Given the description of an element on the screen output the (x, y) to click on. 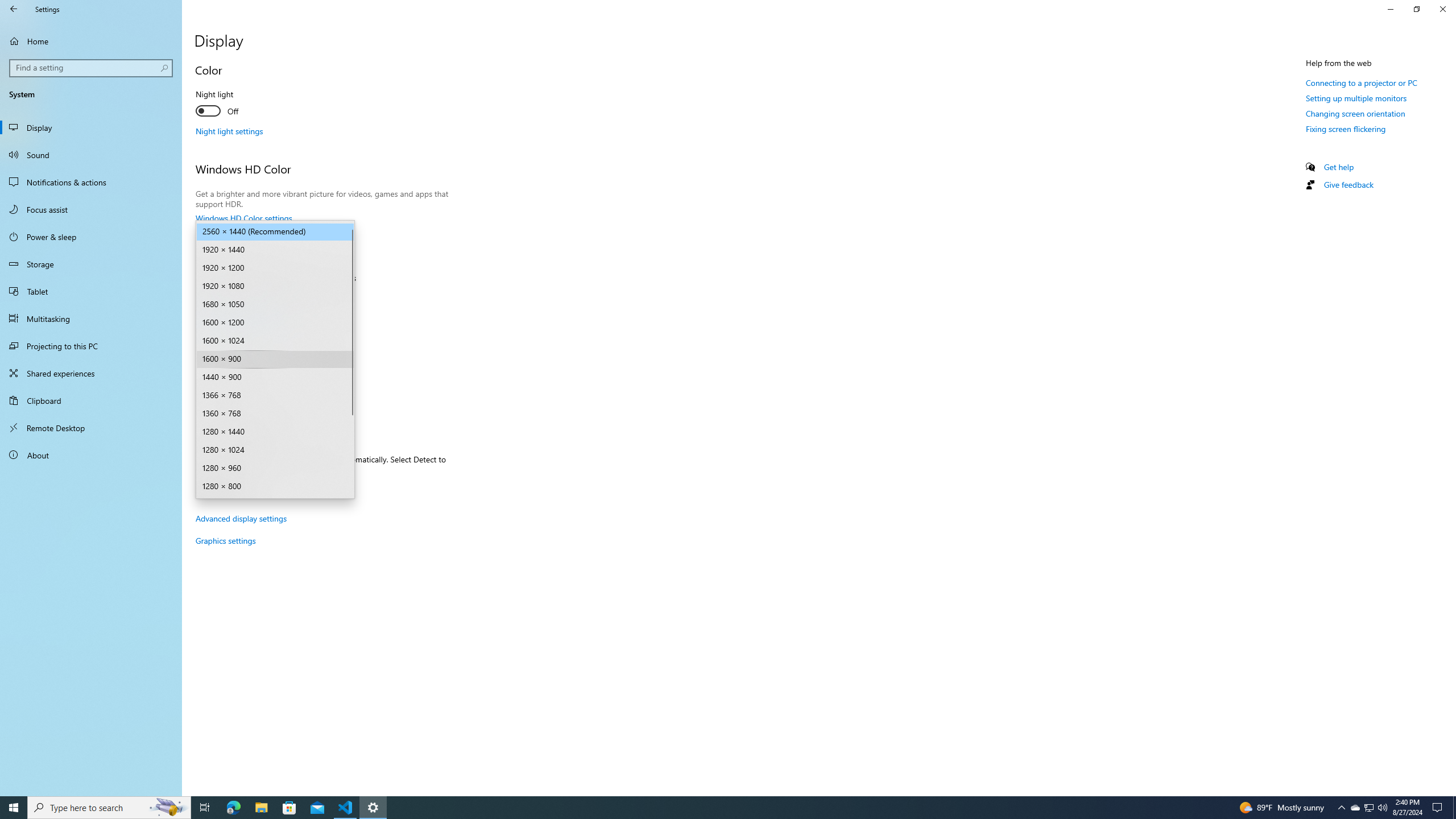
Home (91, 40)
Night light settings (229, 130)
Display resolution (275, 359)
Running applications (717, 807)
Tablet (91, 290)
Landscape (269, 398)
Restore Settings (1416, 9)
Shared experiences (91, 372)
